Given the description of an element on the screen output the (x, y) to click on. 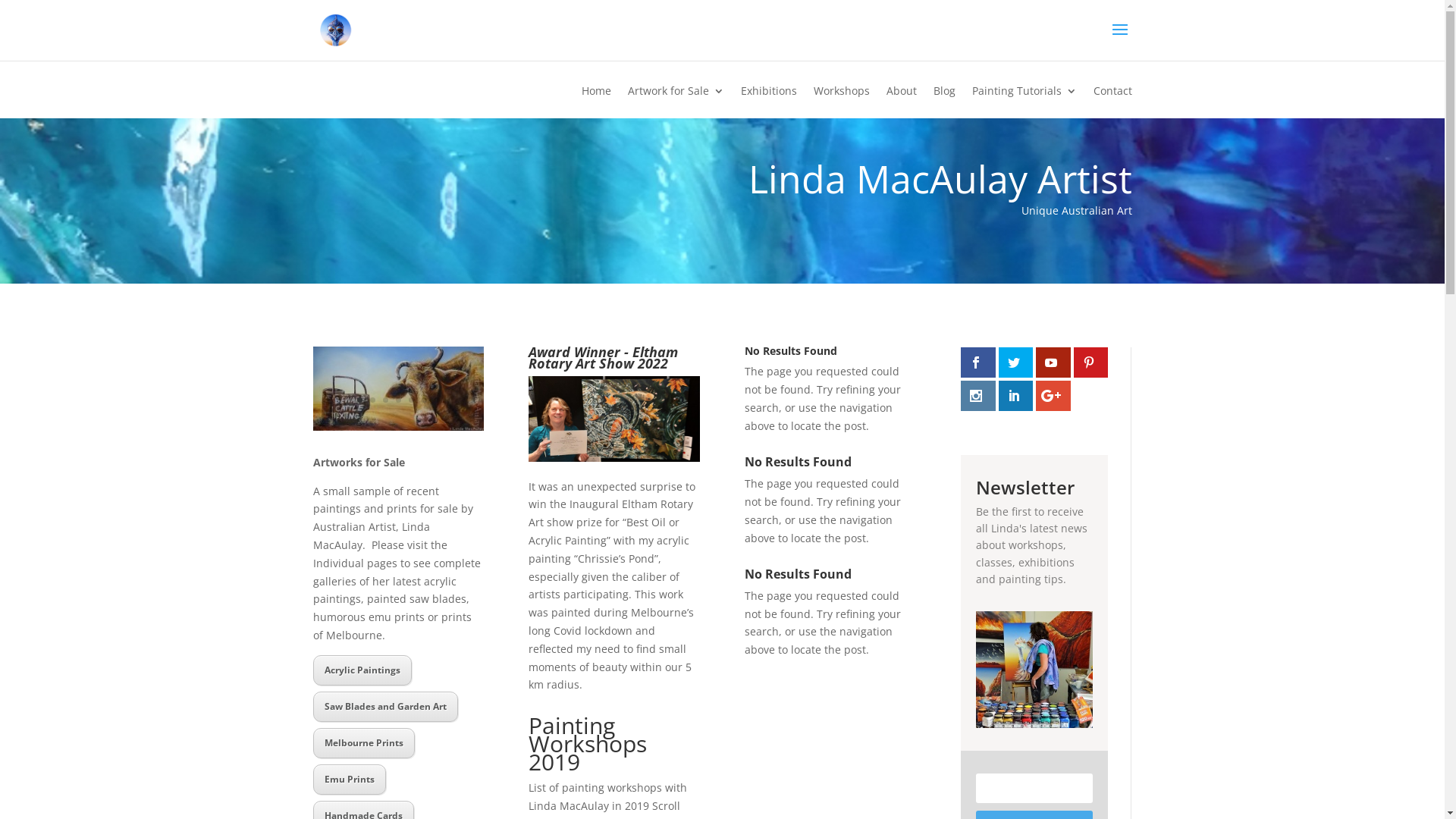
Linda MacAulay Artist Element type: hover (397, 426)
1 Element type: text (359, 399)
Exhibitions Element type: text (768, 101)
Melbourne Prints Element type: text (363, 743)
4 Element type: text (398, 399)
6 Element type: text (423, 399)
Artwork for Sale Element type: text (675, 101)
7 Element type: text (436, 399)
3 Element type: text (385, 399)
Acrylic Paintings Element type: text (361, 670)
Home Element type: text (595, 101)
Blog Element type: text (943, 101)
Painting Tutorials Element type: text (1024, 101)
Saw Blades and Garden Art Element type: text (384, 706)
2 Element type: text (372, 399)
Painting Workshops 2019 Element type: text (587, 743)
About Element type: text (900, 101)
Workshops Element type: text (840, 101)
Emu Prints Element type: text (348, 779)
Contact Element type: text (1112, 101)
5 Element type: text (411, 399)
